Given the description of an element on the screen output the (x, y) to click on. 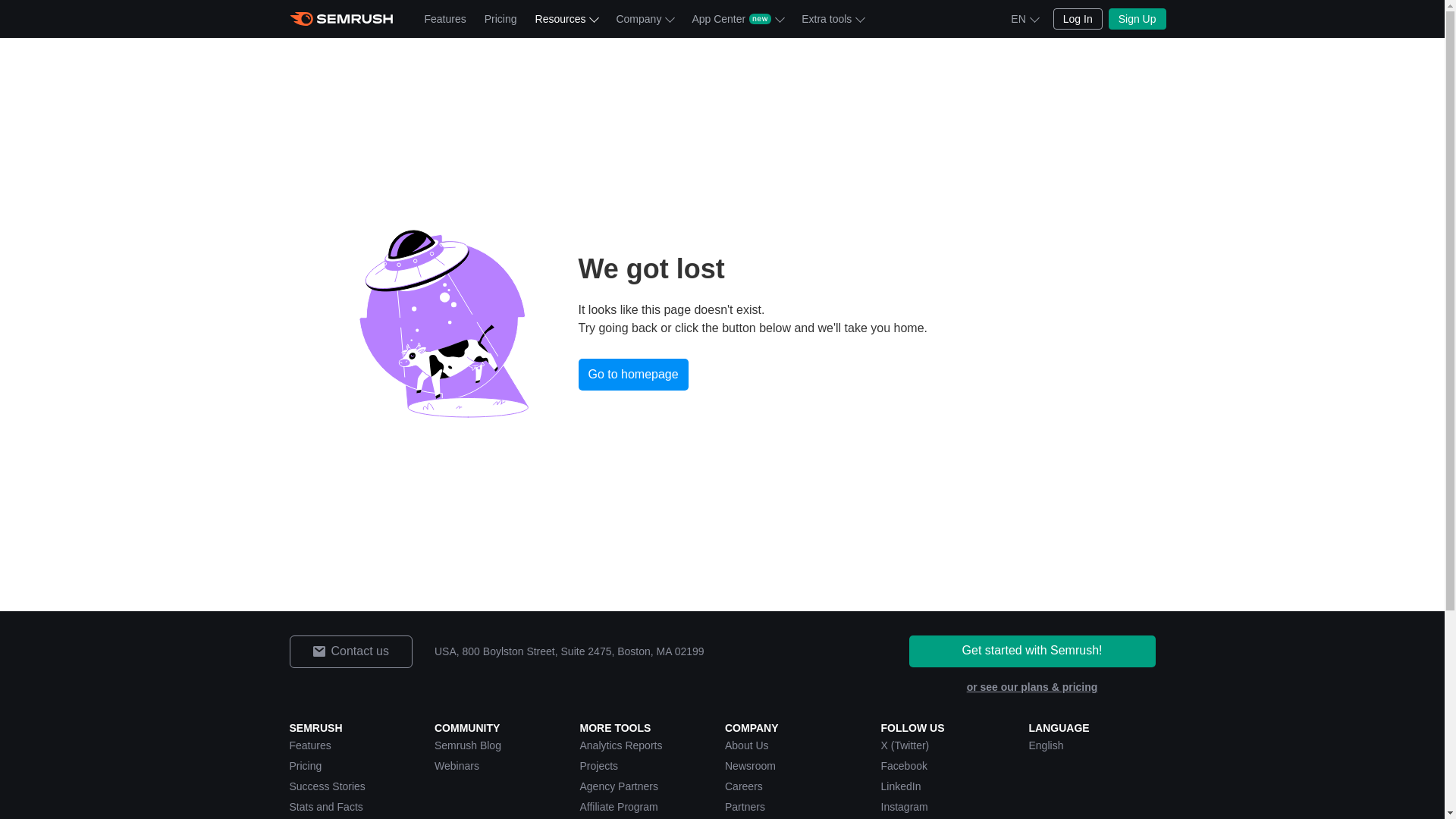
Extra tools (832, 18)
Features (445, 18)
Company (644, 18)
Pricing (500, 18)
App Center (737, 18)
Resources (566, 18)
